Given the description of an element on the screen output the (x, y) to click on. 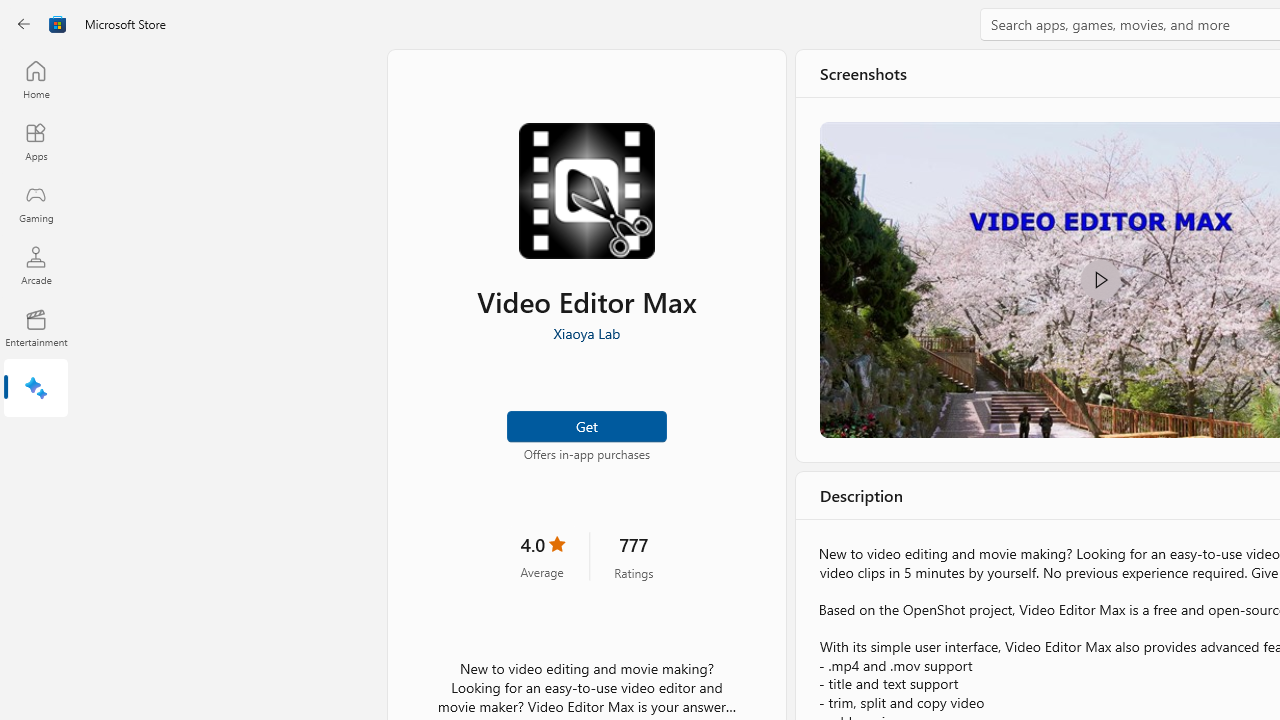
Get (586, 424)
Back (24, 24)
Gaming (35, 203)
Apps (35, 141)
Xiaoya Lab (585, 333)
Home (35, 79)
Entertainment (35, 327)
4.0 stars. Click to skip to ratings and reviews (542, 556)
Class: Image (58, 24)
Arcade (35, 265)
AI Hub (35, 390)
